Given the description of an element on the screen output the (x, y) to click on. 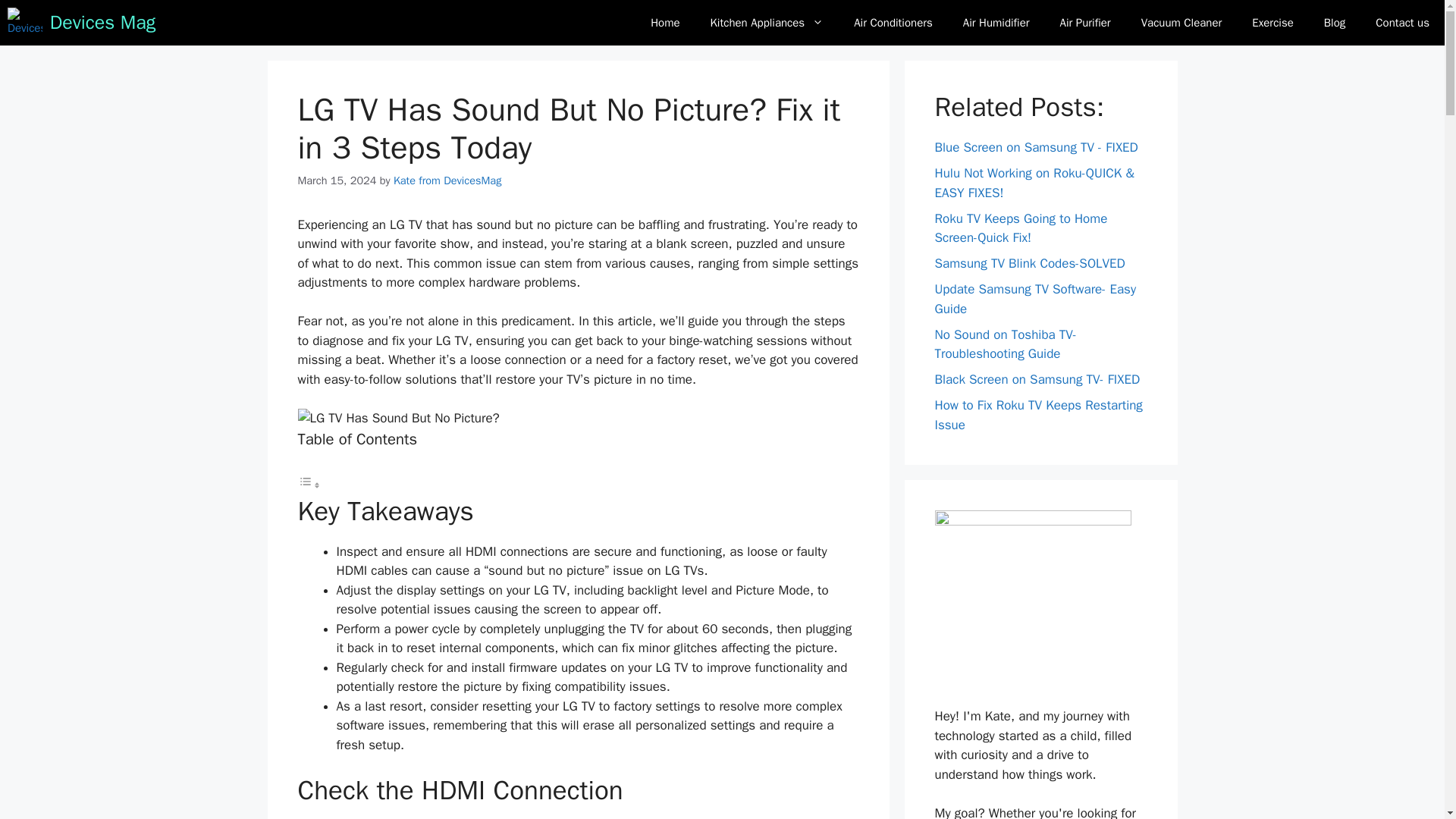
View all posts by Kate from DevicesMag (446, 180)
Devices Mag (102, 22)
Blog (1333, 22)
Vacuum Cleaner (1181, 22)
Air Purifier (1085, 22)
Air Humidifier (996, 22)
Blue Screen on Samsung TV - FIXED (1035, 147)
Update Samsung TV Software- Easy Guide (1034, 298)
Samsung TV Blink Codes-SOLVED (1029, 263)
Air Conditioners (892, 22)
Exercise (1272, 22)
Home (664, 22)
Roku TV Keeps Going to Home Screen-Quick Fix! (1020, 228)
Kitchen Appliances (767, 22)
Kate from DevicesMag (446, 180)
